Given the description of an element on the screen output the (x, y) to click on. 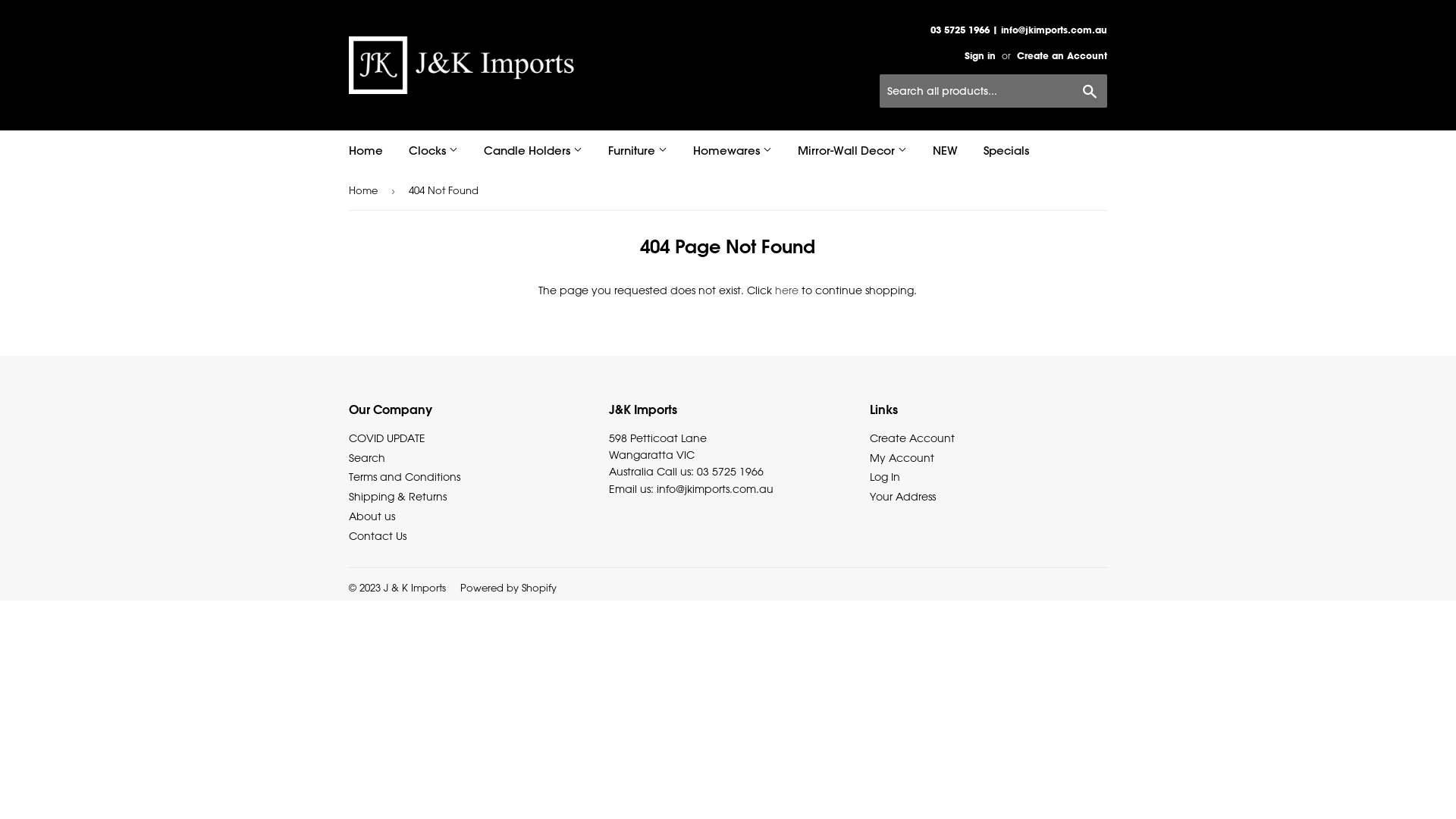
03 5725 1966 | info@jkimports.com.au Element type: text (1018, 42)
Furniture Element type: text (637, 150)
Search Element type: text (1090, 91)
Sign in Element type: text (979, 55)
Your Address Element type: text (902, 495)
Clocks Element type: text (433, 150)
Create Account Element type: text (911, 437)
Mirror-Wall Decor Element type: text (852, 150)
Powered by Shopify Element type: text (508, 586)
COVID UPDATE Element type: text (386, 437)
Terms and Conditions Element type: text (404, 476)
Create an Account Element type: text (1061, 55)
Home Element type: text (365, 150)
About us Element type: text (371, 515)
J & K Imports Element type: text (414, 586)
Log In Element type: text (884, 476)
Home Element type: text (365, 190)
Contact Us Element type: text (377, 535)
Search Element type: text (366, 457)
Shipping & Returns Element type: text (397, 495)
Specials Element type: text (1006, 150)
here Element type: text (786, 289)
Homewares Element type: text (732, 150)
NEW Element type: text (945, 150)
My Account Element type: text (901, 457)
Candle Holders Element type: text (532, 150)
